Given the description of an element on the screen output the (x, y) to click on. 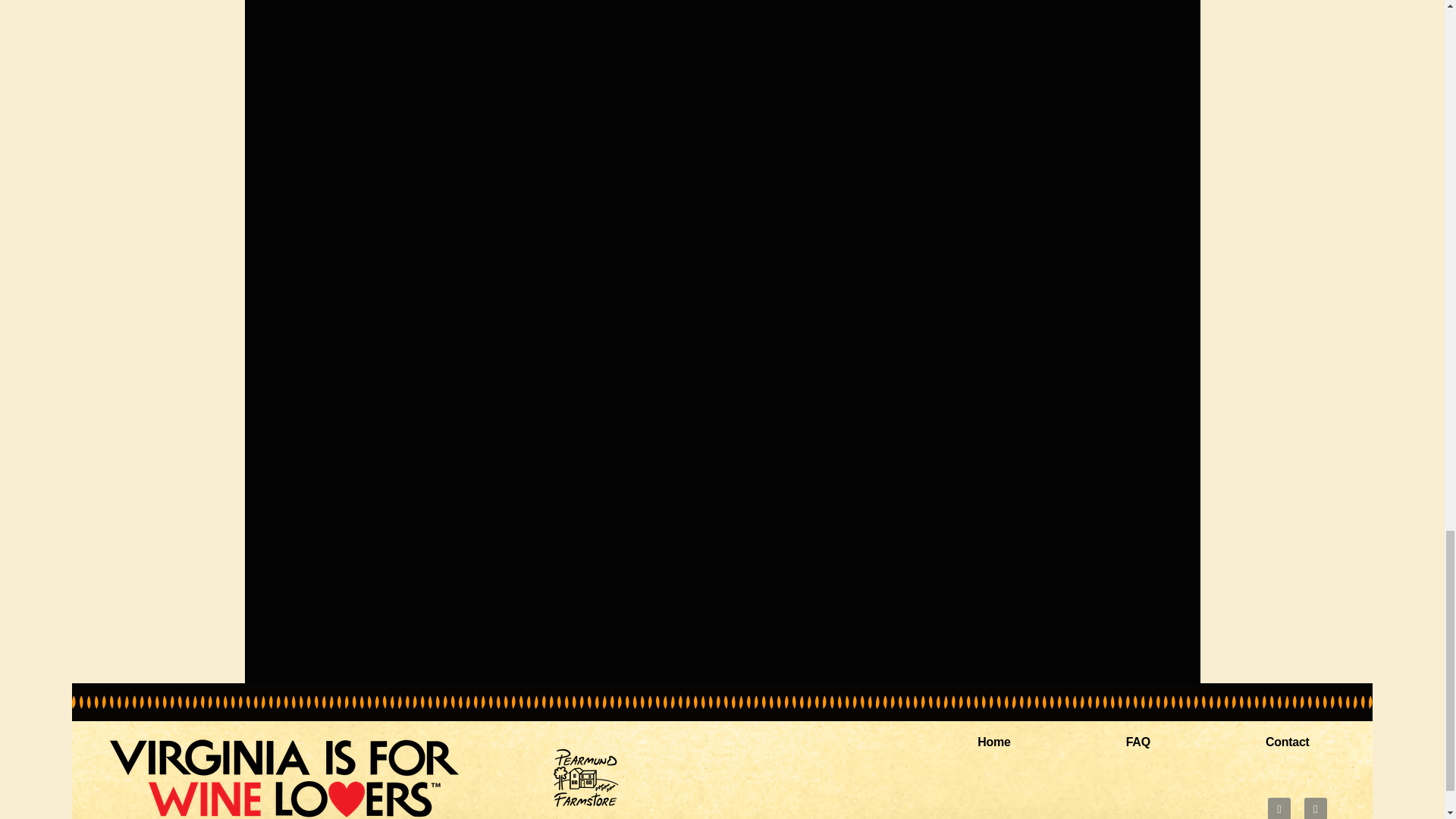
Home (993, 742)
FAQ (1138, 742)
Contact (1287, 742)
